Given the description of an element on the screen output the (x, y) to click on. 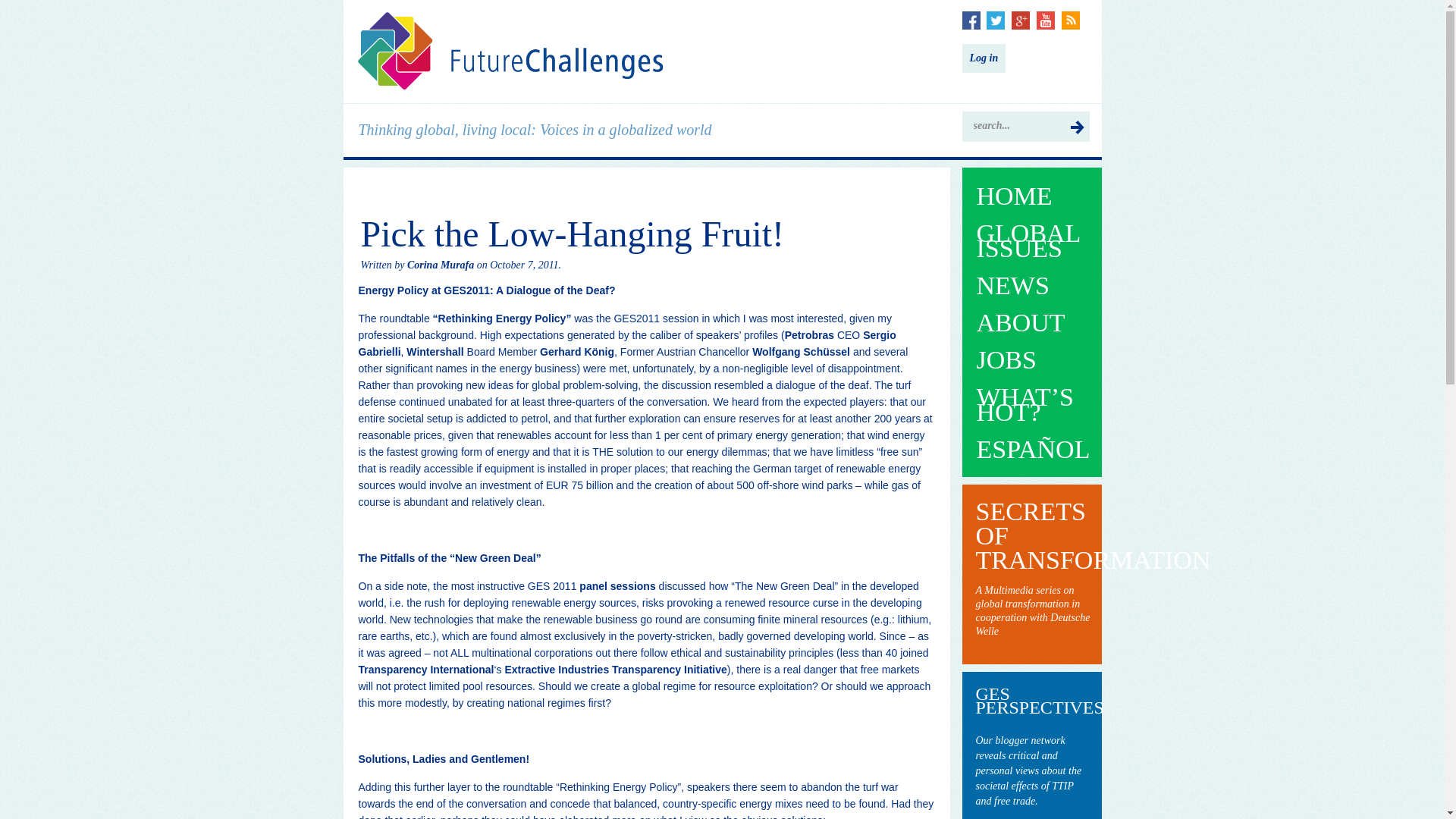
Extractive Industries Transparency Initiative (614, 669)
External Link to GES Open Solution (1032, 610)
panel sessions (617, 585)
Facebook (969, 20)
Subscribe to our Feed (1070, 20)
Youtube (1045, 20)
Twitter (995, 20)
Reset (3, 2)
Sergio Gabrielli (626, 343)
Wintershall (434, 351)
Blogposts associated with the Global Economic Symposium (1032, 771)
Posts by Corina Murafa (440, 265)
Log in (983, 58)
Petrobras (809, 335)
Transparency International (425, 669)
